Given the description of an element on the screen output the (x, y) to click on. 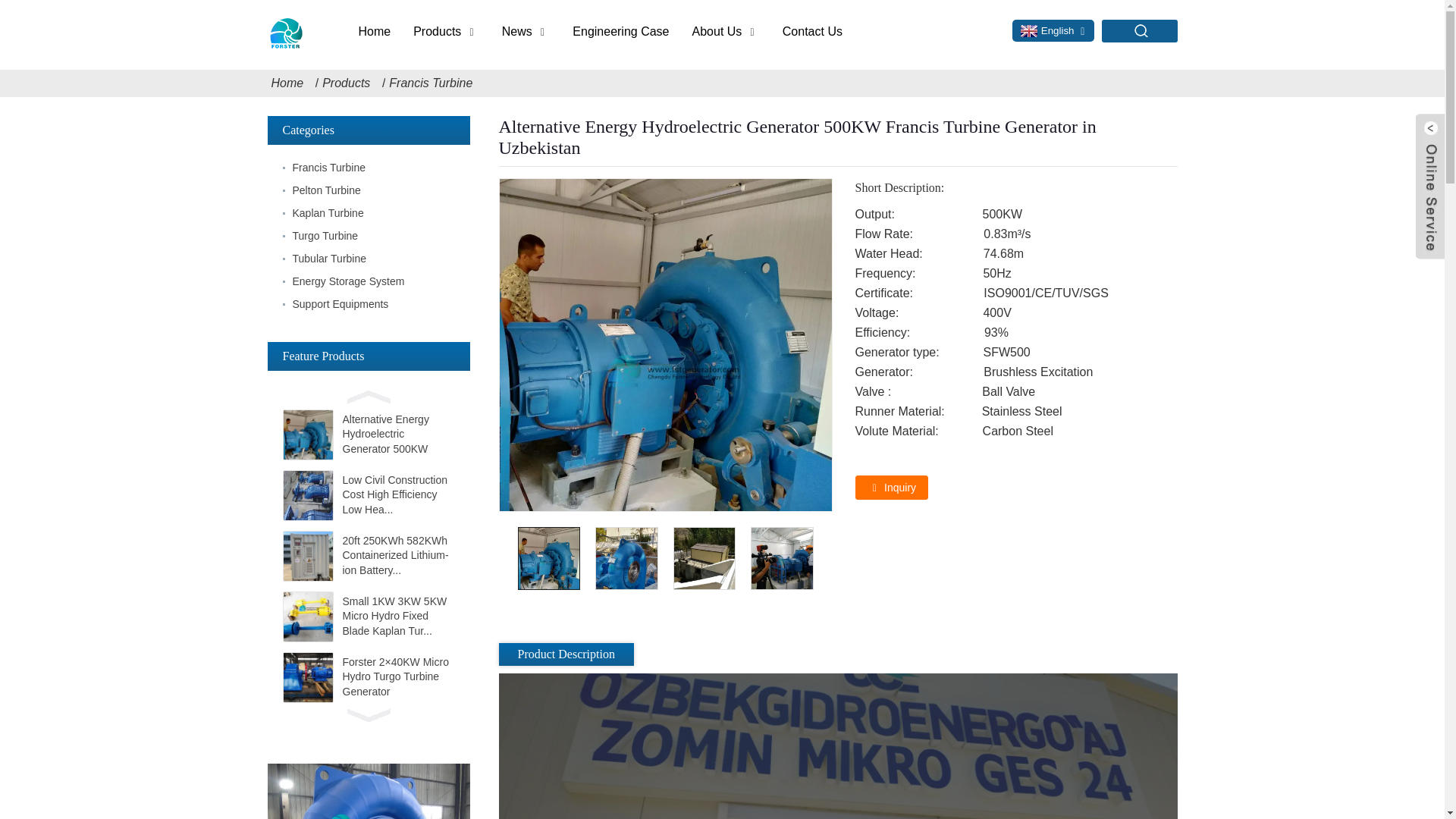
Engineering Case (620, 31)
About Us (717, 31)
Products (437, 31)
Tubular Turbine (368, 258)
Turgo Turbine (368, 235)
Francis Turbine (368, 167)
English (1045, 30)
Products (351, 83)
Support Equipments (368, 303)
Energy Storage System (368, 281)
